Given the description of an element on the screen output the (x, y) to click on. 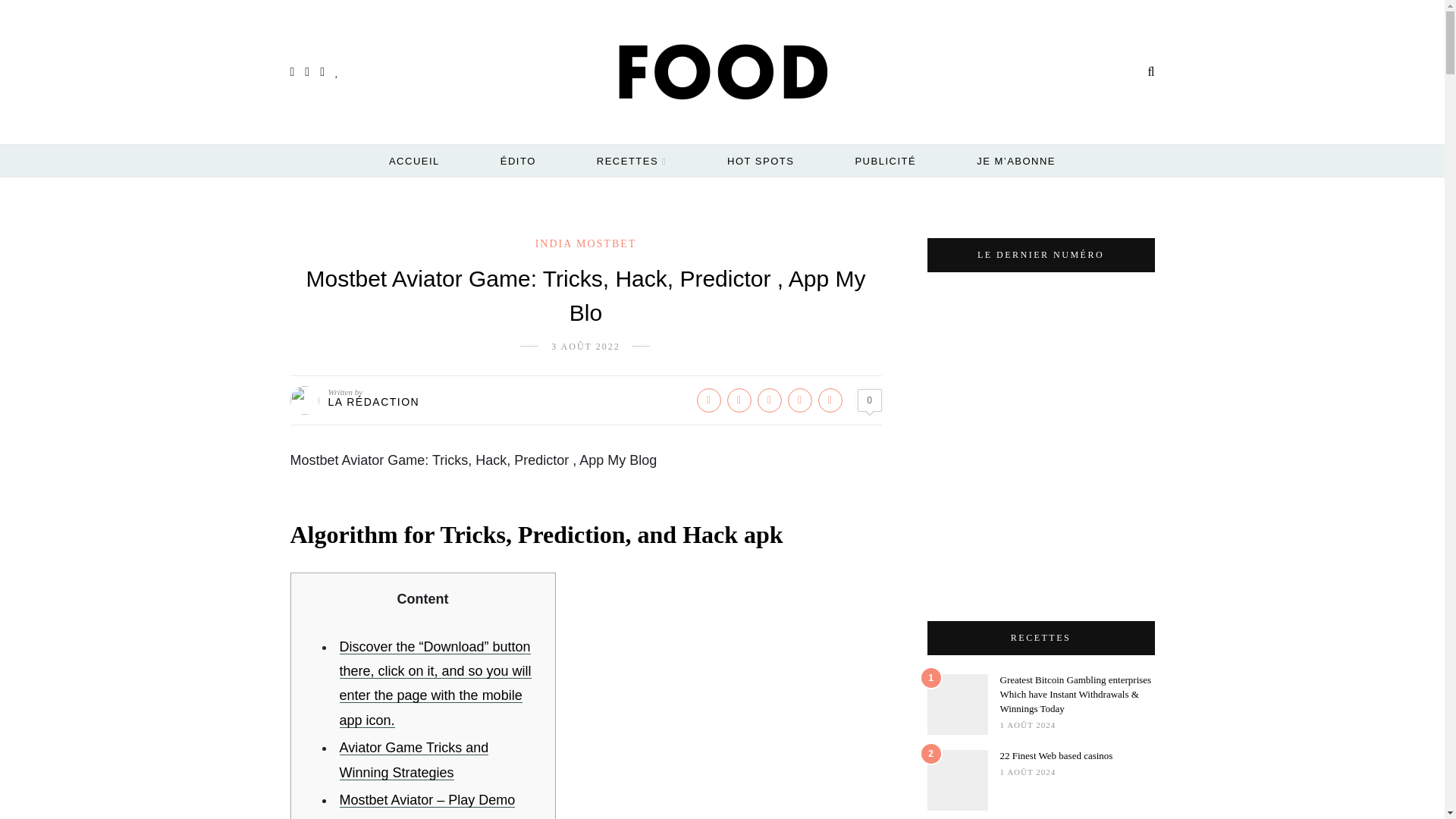
HOT SPOTS (759, 160)
ACCUEIL (413, 160)
INDIA MOSTBET (586, 243)
RECETTES (631, 161)
